Given the description of an element on the screen output the (x, y) to click on. 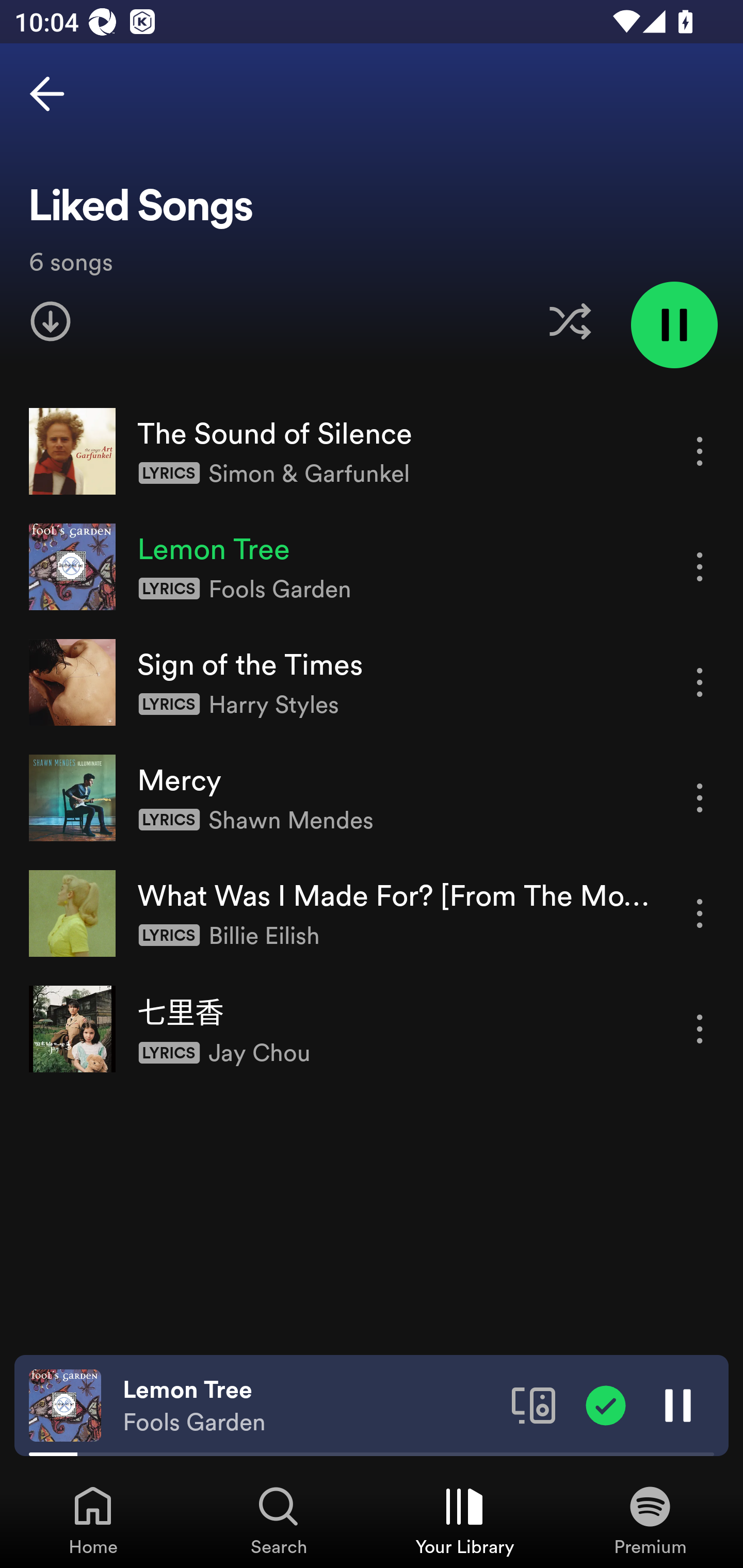
Back (46, 93)
Download (50, 321)
Enable shuffle for this liked songs (569, 321)
Pause liked songs (674, 324)
More options for song The Sound of Silence (699, 450)
More options for song Lemon Tree (699, 566)
More options for song Sign of the Times (699, 682)
More options for song Mercy (699, 798)
七里香 More options for song 七里香 Lyrics Jay Chou (371, 1028)
More options for song 七里香 (699, 1029)
Lemon Tree Fools Garden (309, 1405)
The cover art of the currently playing track (64, 1404)
Connect to a device. Opens the devices menu (533, 1404)
Item added (605, 1404)
Pause (677, 1404)
Home, Tab 1 of 4 Home Home (92, 1519)
Search, Tab 2 of 4 Search Search (278, 1519)
Your Library, Tab 3 of 4 Your Library Your Library (464, 1519)
Premium, Tab 4 of 4 Premium Premium (650, 1519)
